Given the description of an element on the screen output the (x, y) to click on. 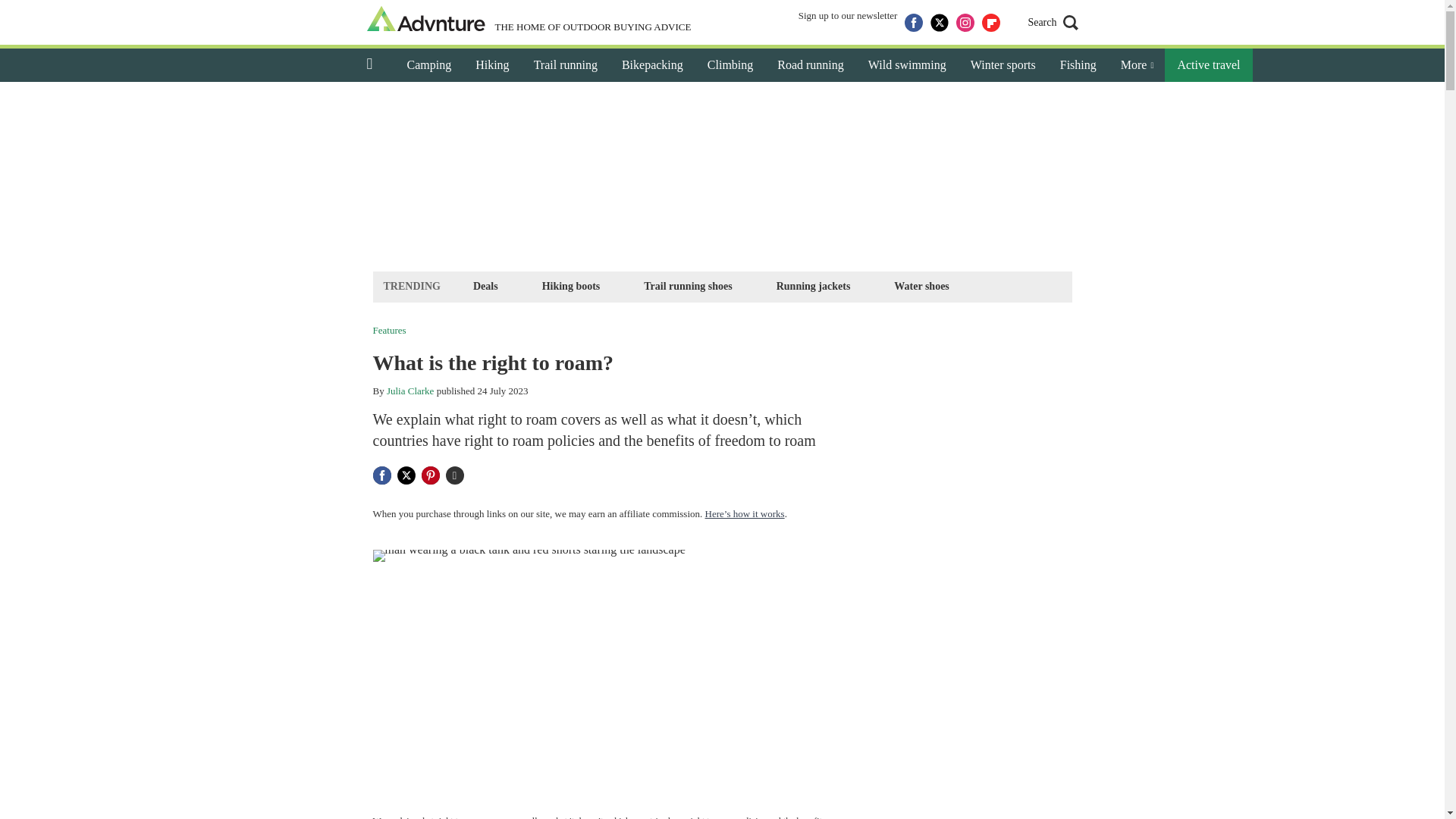
Running jackets (813, 286)
Hiking (492, 64)
Road running (810, 64)
Water shoes (920, 286)
Deals (485, 286)
Camping (428, 64)
Winter sports (1003, 64)
Julia Clarke (410, 390)
Hiking boots (571, 286)
Sign up to our newsletter (847, 22)
